Given the description of an element on the screen output the (x, y) to click on. 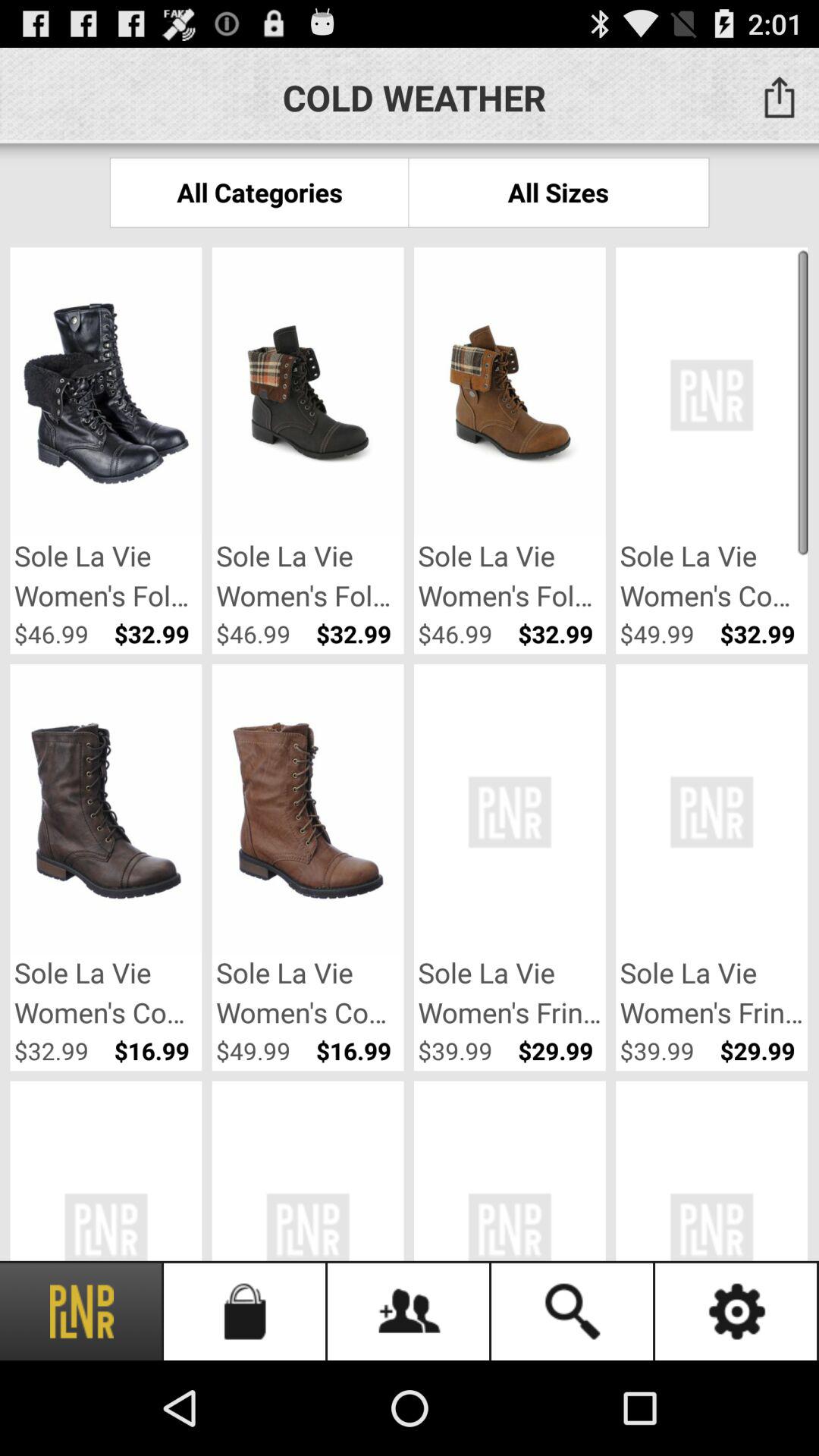
tap the all categories item (259, 192)
